Given the description of an element on the screen output the (x, y) to click on. 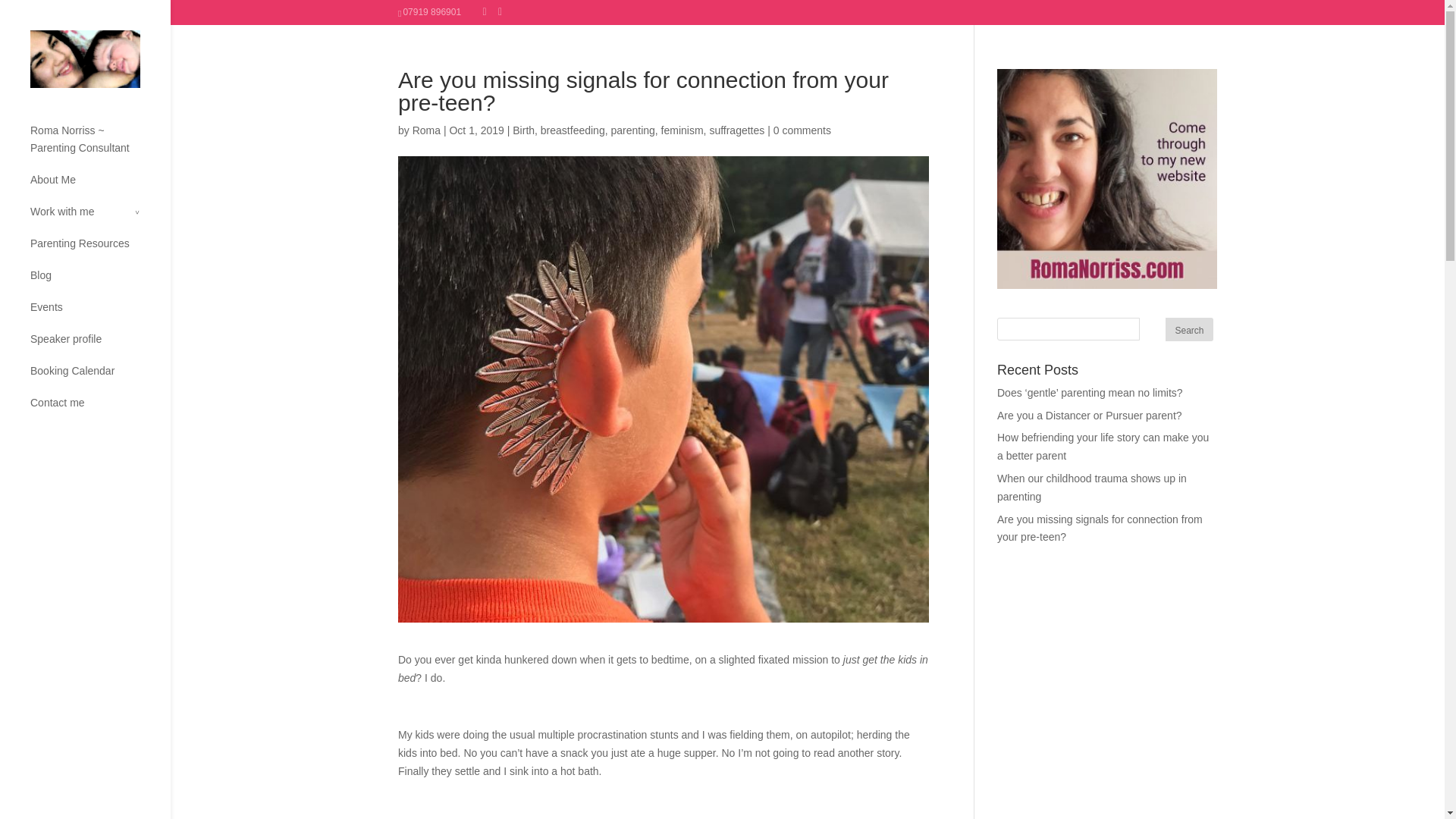
How befriending your life story can make you a better parent (1102, 446)
Are you missing signals for connection from your pre-teen? (1099, 528)
Blog (100, 282)
Are you a Distancer or Pursuer parent? (1089, 415)
Work with me (100, 219)
Speaker profile (100, 346)
Search (1189, 329)
Posts by Roma (426, 130)
Contact me (100, 409)
When our childhood trauma shows up in parenting (1091, 487)
